Given the description of an element on the screen output the (x, y) to click on. 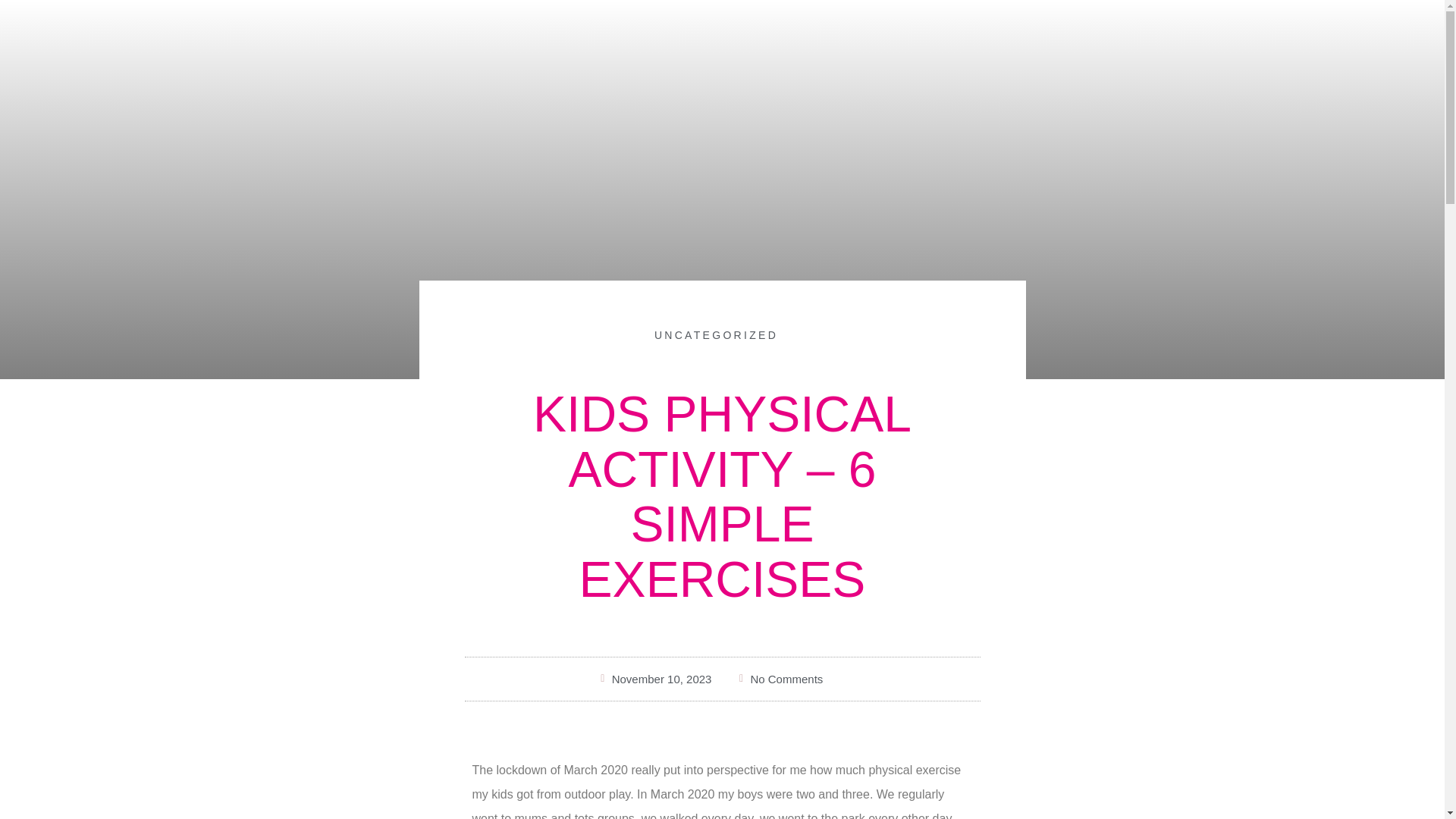
No Comments (778, 679)
November 10, 2023 (653, 679)
UNCATEGORIZED (715, 335)
